Given the description of an element on the screen output the (x, y) to click on. 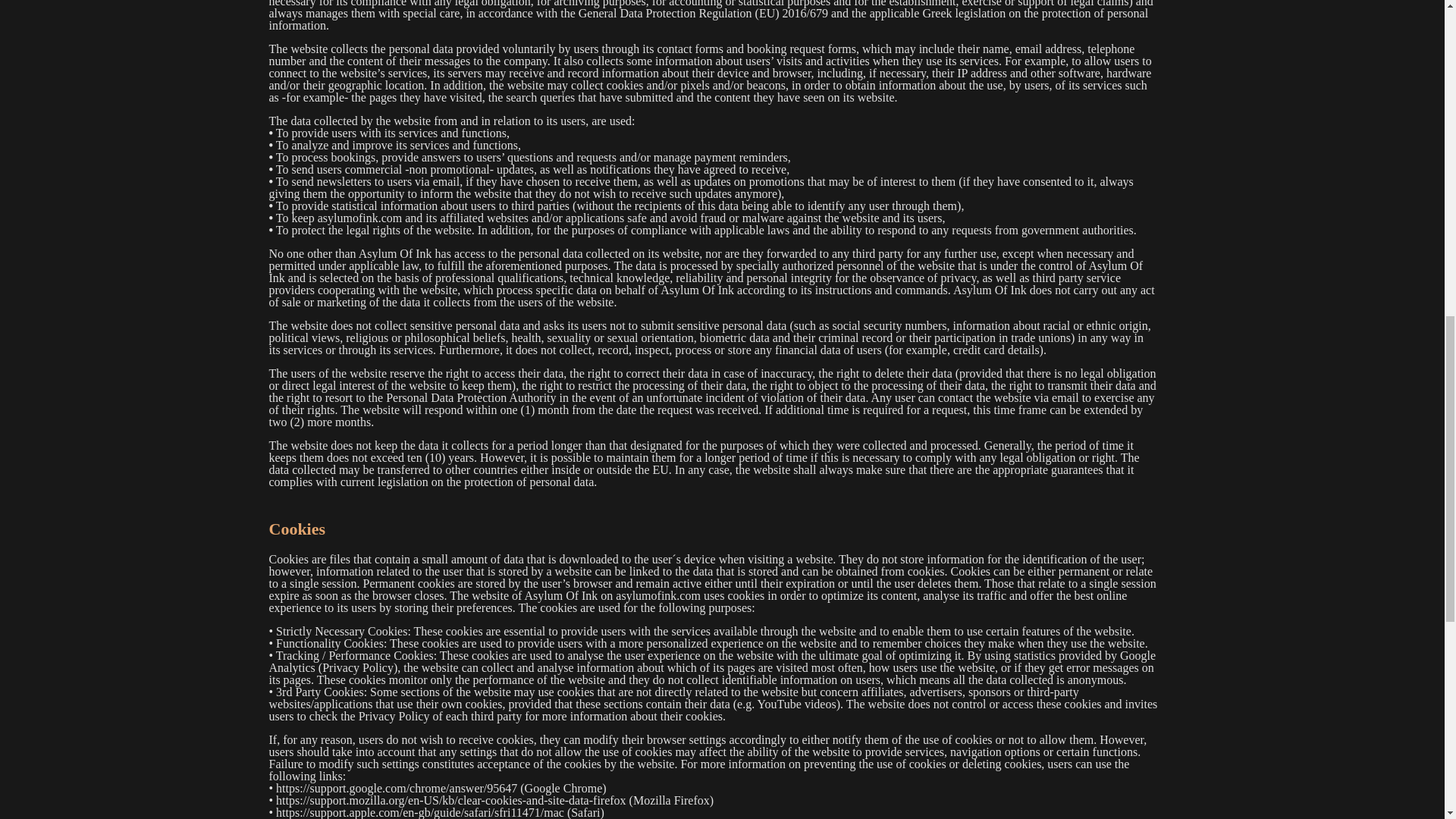
Privacy Policy (357, 667)
